Given the description of an element on the screen output the (x, y) to click on. 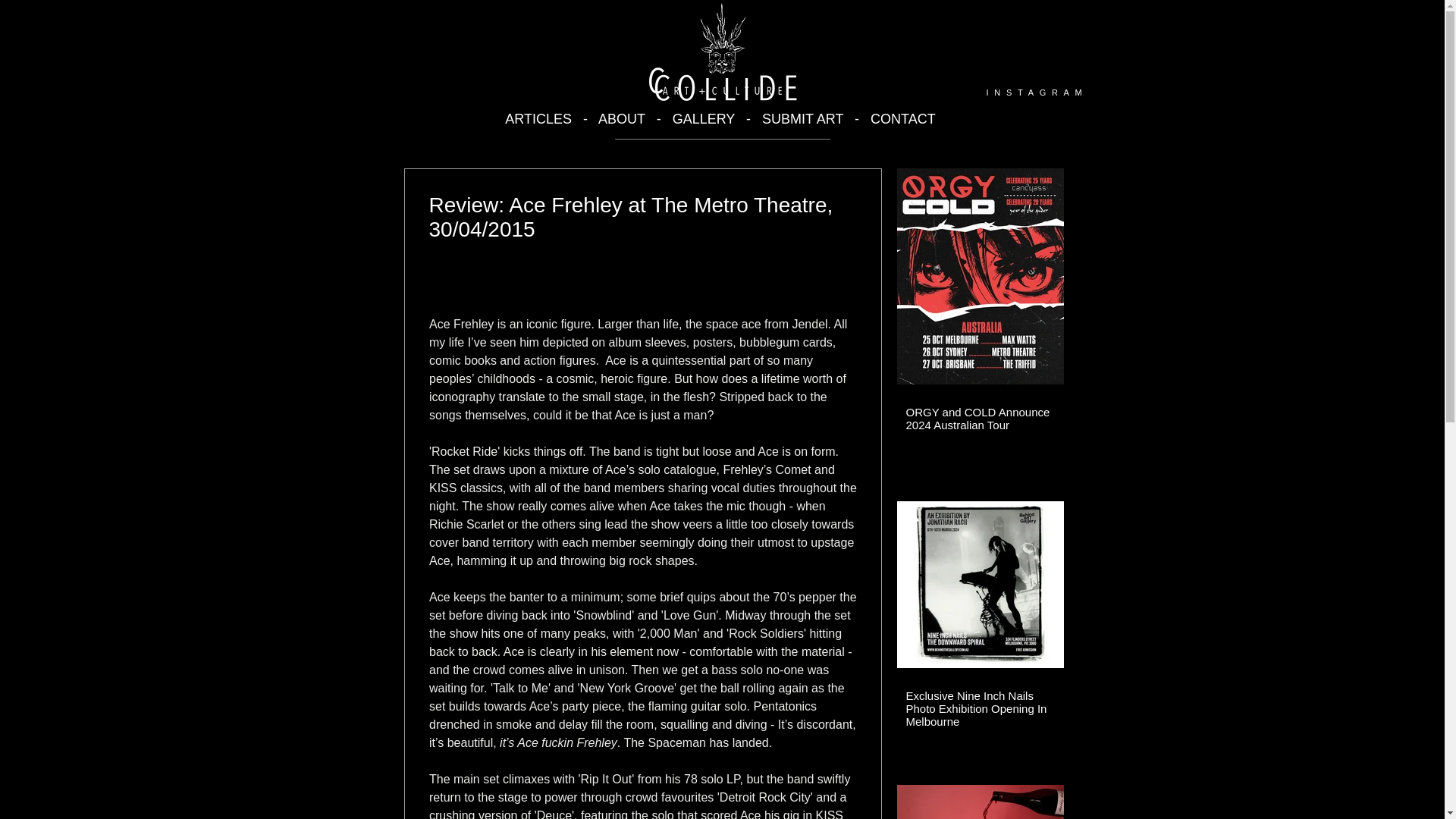
CONTACT (903, 118)
INSTAGRAM (1037, 92)
SUBMIT ART (802, 118)
ABOUT (623, 118)
ORGY and COLD Announce 2024 Australian Tour (979, 418)
ARTICLES (538, 118)
GALLERY (703, 118)
